Given the description of an element on the screen output the (x, y) to click on. 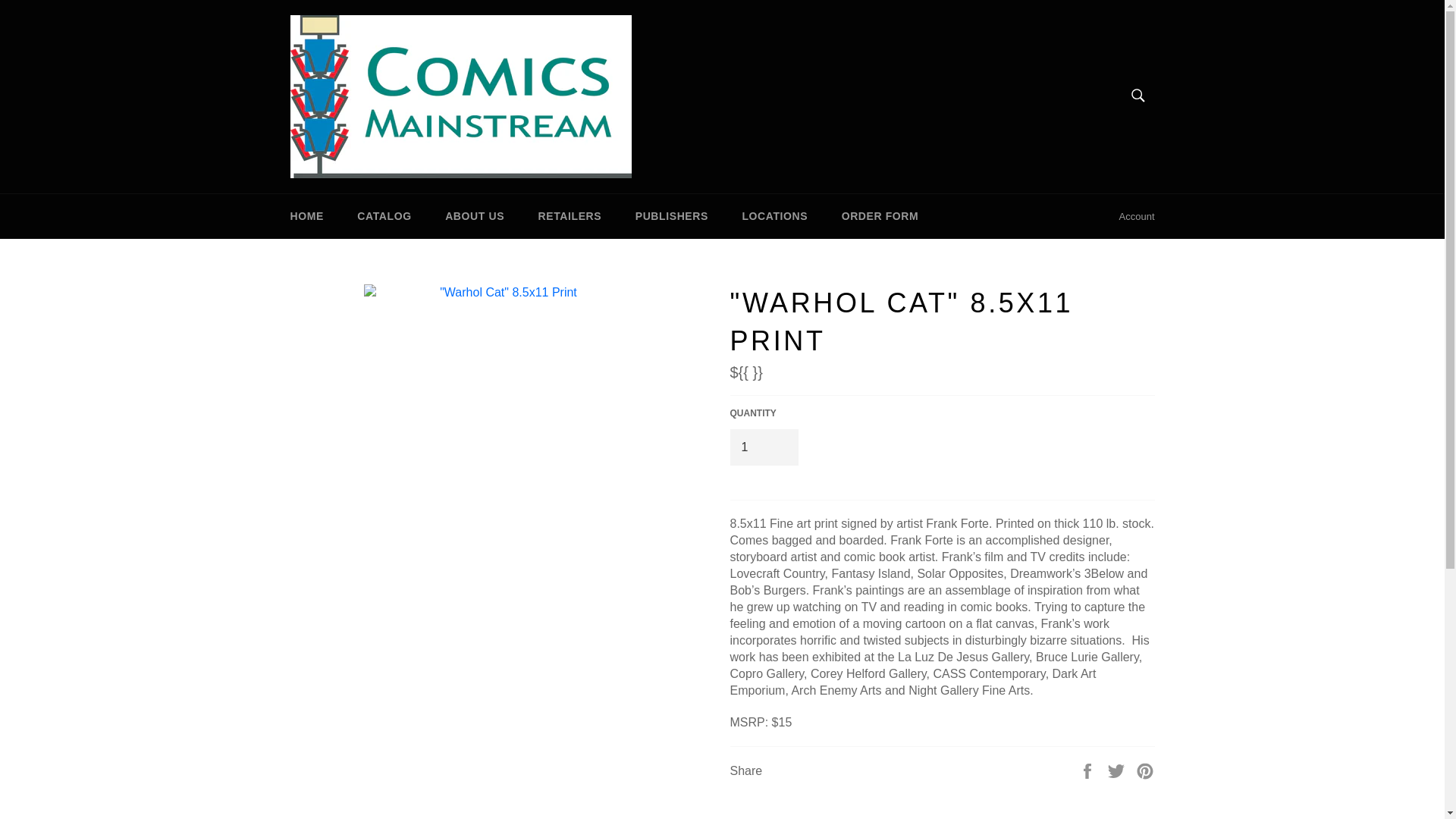
PUBLISHERS (671, 216)
ABOUT US (474, 216)
ORDER FORM (880, 216)
HOME (306, 216)
Account (1136, 216)
Pin on Pinterest (1144, 770)
1 (763, 447)
Share on Facebook (1088, 770)
Share on Facebook (1088, 770)
Search (1136, 95)
RETAILERS (569, 216)
LOCATIONS (774, 216)
Pin on Pinterest (1144, 770)
Tweet on Twitter (1117, 770)
CATALOG (384, 216)
